Given the description of an element on the screen output the (x, y) to click on. 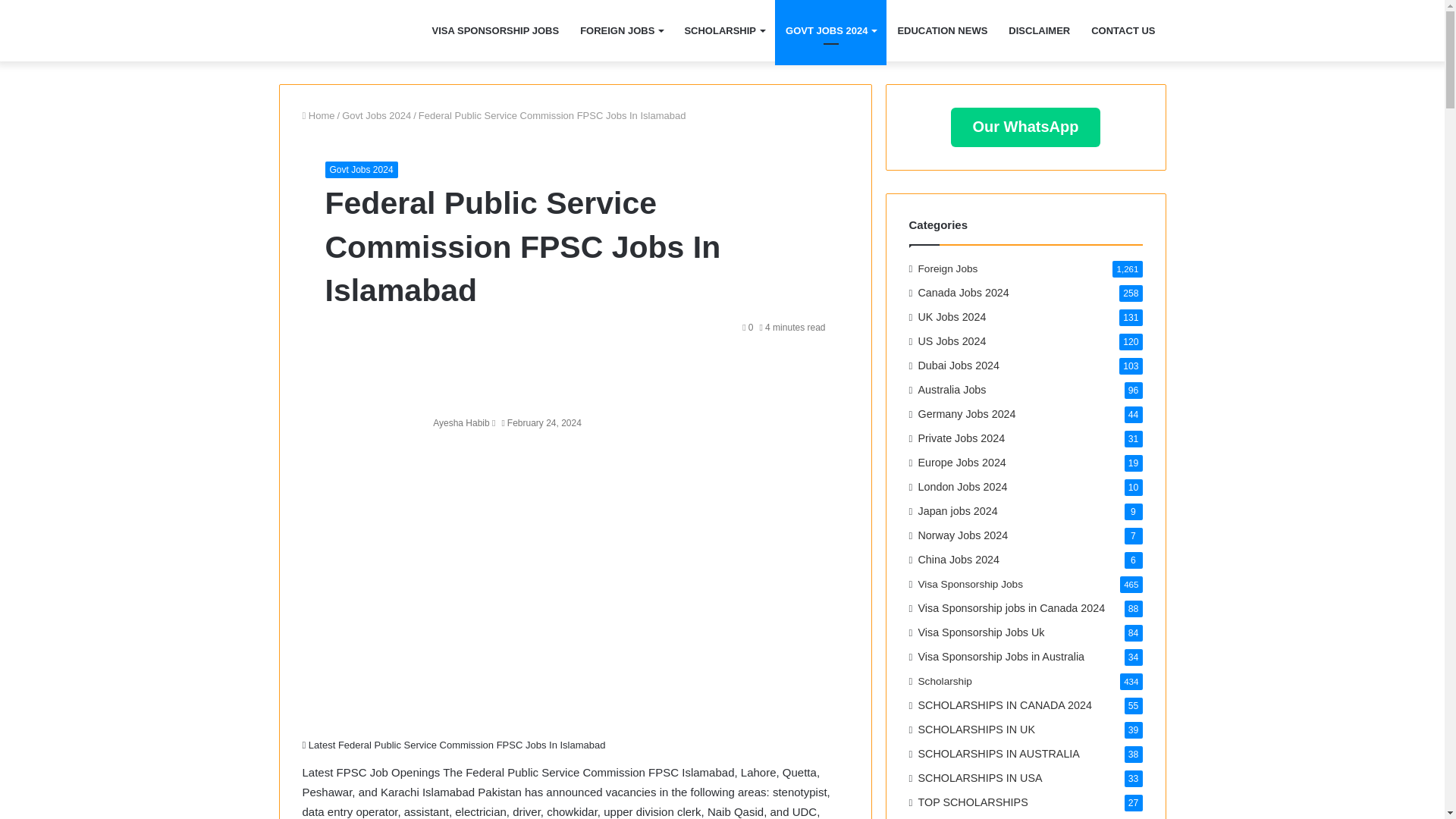
Govt Jobs 2024 (376, 115)
Home (317, 115)
FOREIGN JOBS (620, 30)
DISCLAIMER (1038, 30)
SCHOLARSHIP (723, 30)
GOVT JOBS 2024 (830, 30)
VISA SPONSORSHIP JOBS (496, 30)
EDUCATION NEWS (941, 30)
CONTACT US (1123, 30)
Visa Sponsorship Jobs (318, 30)
